Given the description of an element on the screen output the (x, y) to click on. 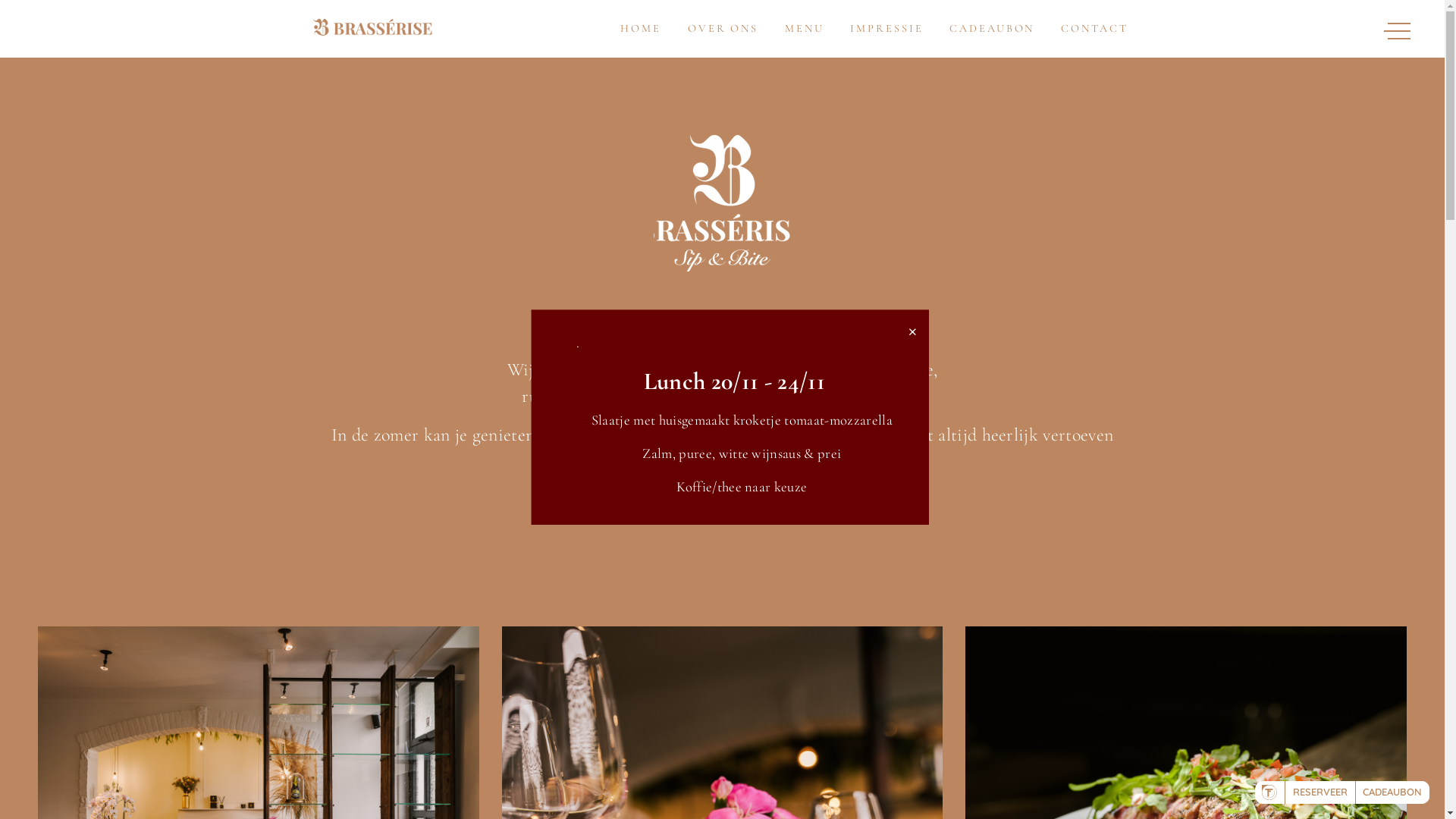
CADEAUBON Element type: text (991, 28)
CONTACT Element type: text (1093, 28)
MENU Element type: text (804, 28)
IMPRESSIE Element type: text (886, 28)
HOME Element type: text (640, 28)
OVER ONS Element type: text (722, 28)
